Given the description of an element on the screen output the (x, y) to click on. 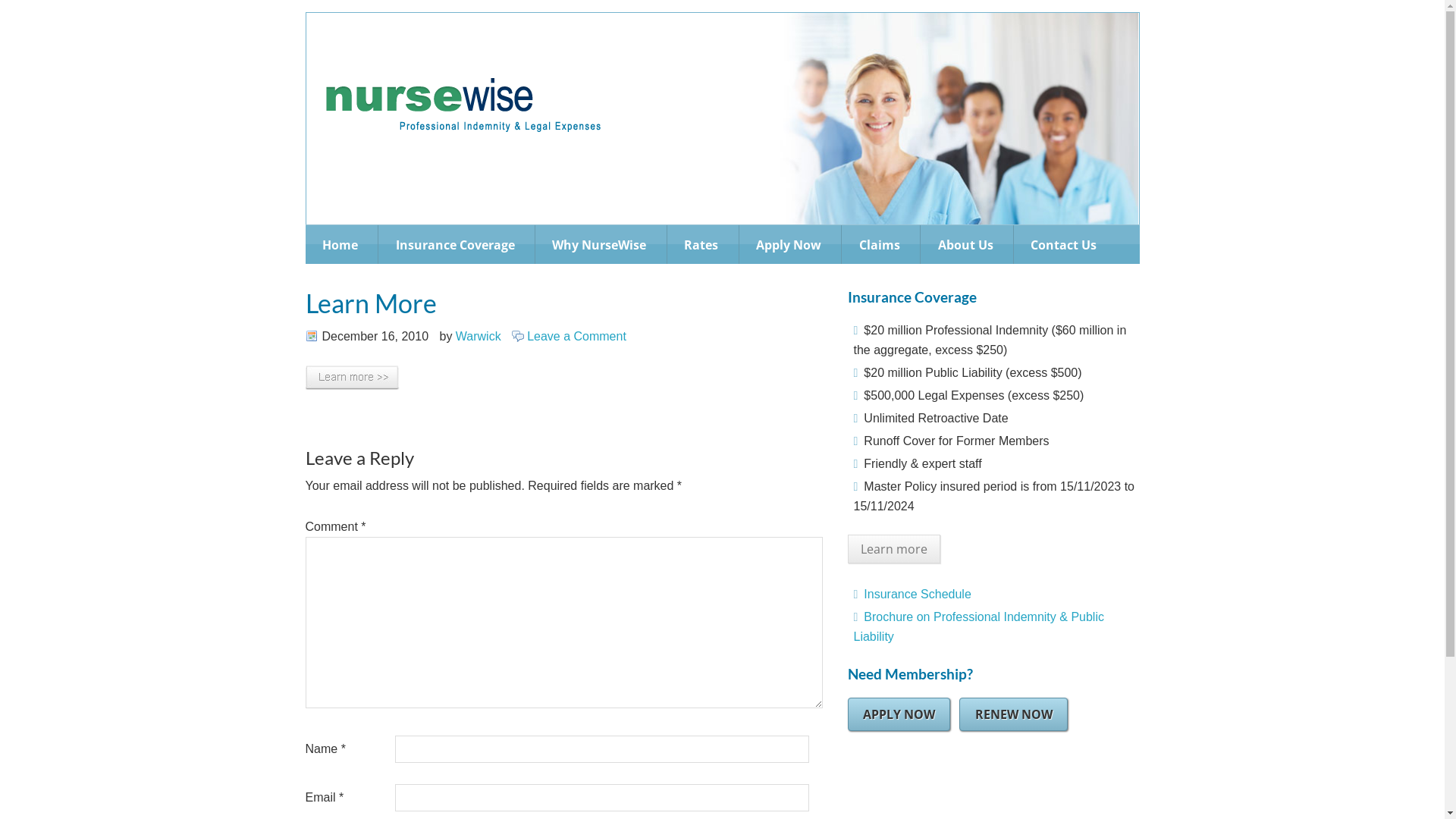
RENEW NOW Element type: text (1012, 714)
APPLY NOW Element type: text (898, 714)
Why NurseWise Element type: text (599, 244)
Insurance Coverage Element type: text (454, 244)
Brochure on Professional Indemnity & Public Liability Element type: text (978, 626)
Home Element type: text (339, 244)
Apply Now Element type: text (788, 244)
Rates Element type: text (701, 244)
Insurance Schedule Element type: text (916, 593)
About Us Element type: text (965, 244)
Claims Element type: text (878, 244)
Warwick Element type: text (478, 335)
Leave a Comment Element type: text (576, 335)
Learn more Element type: text (893, 548)
NurseWise Element type: hover (462, 129)
Contact Us Element type: text (1063, 244)
